Given the description of an element on the screen output the (x, y) to click on. 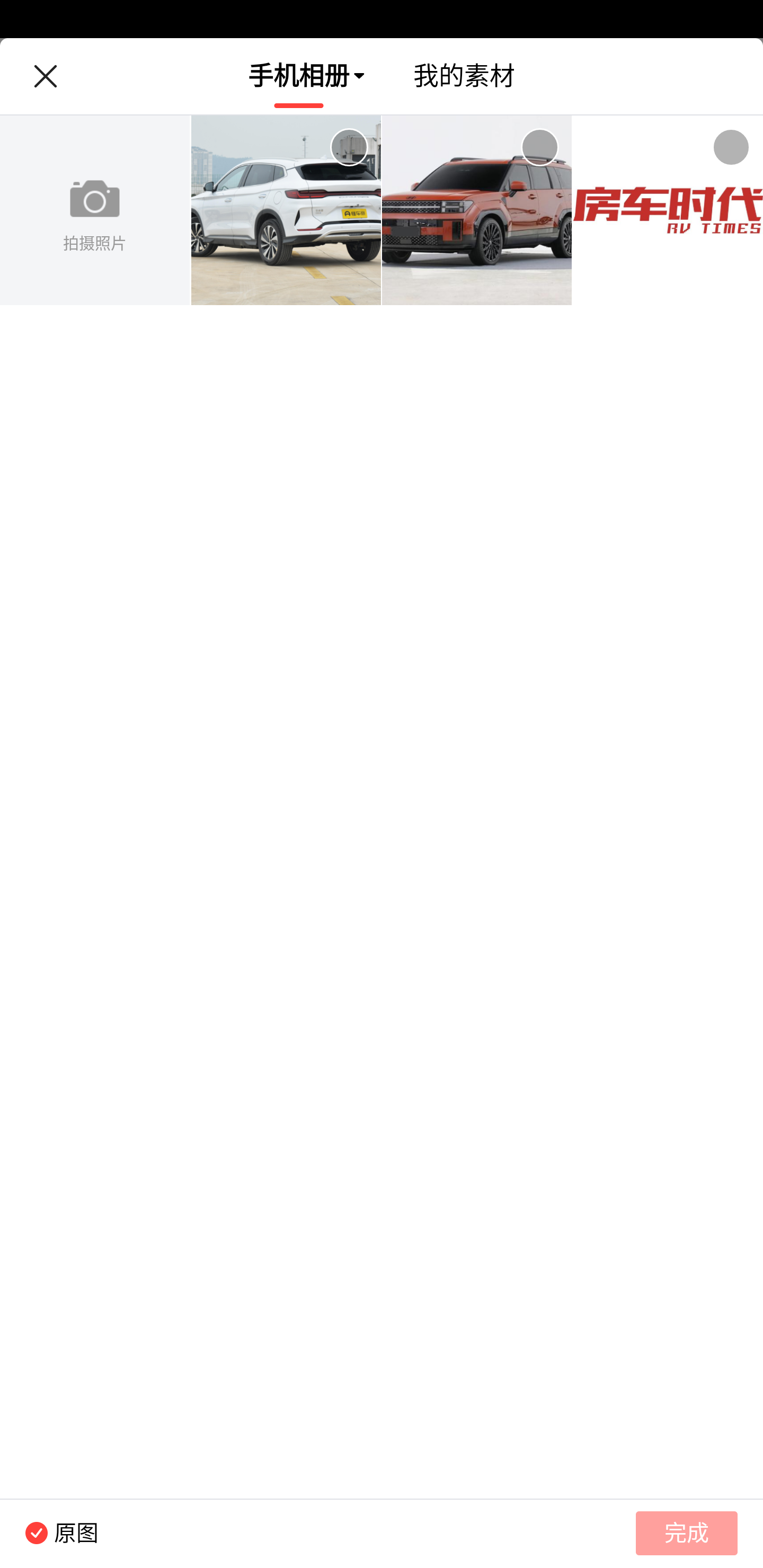
返回 (44, 75)
手机相册 (298, 75)
我的素材 (464, 75)
拍摄照片 (94, 210)
图片1 (285, 210)
未选中 (348, 147)
图片2 (476, 210)
未选中 (539, 147)
图片3 (668, 210)
未选中 (731, 147)
已选中，原图， 原图 完成 完成 (381, 1533)
已选中，原图， 原图 (49, 1533)
